Given the description of an element on the screen output the (x, y) to click on. 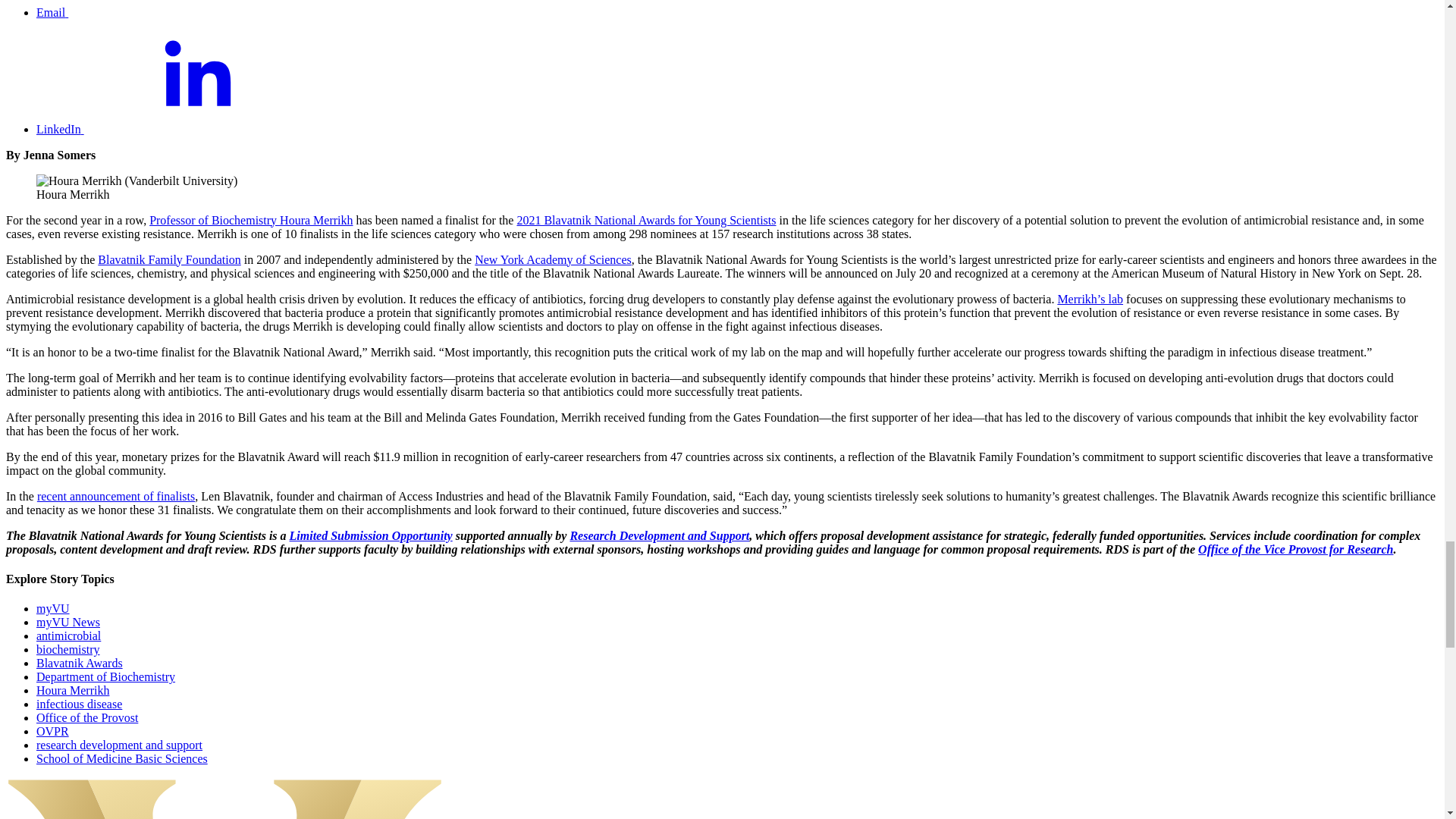
Department of Biochemistry (105, 676)
antimicrobial (68, 635)
Research Development and Support (659, 535)
recent announcement of finalists (116, 495)
Office of the Vice Provost for Research (1295, 549)
Houra Merrikh (72, 689)
myVU (52, 608)
Blavatnik Awards (79, 662)
Limited Submission Opportunity (370, 535)
New York Academy of Sciences (552, 259)
myVU News (68, 621)
Professor of Biochemistry Houra Merrikh (250, 219)
biochemistry (68, 649)
LinkedIn (173, 128)
Email (165, 11)
